Given the description of an element on the screen output the (x, y) to click on. 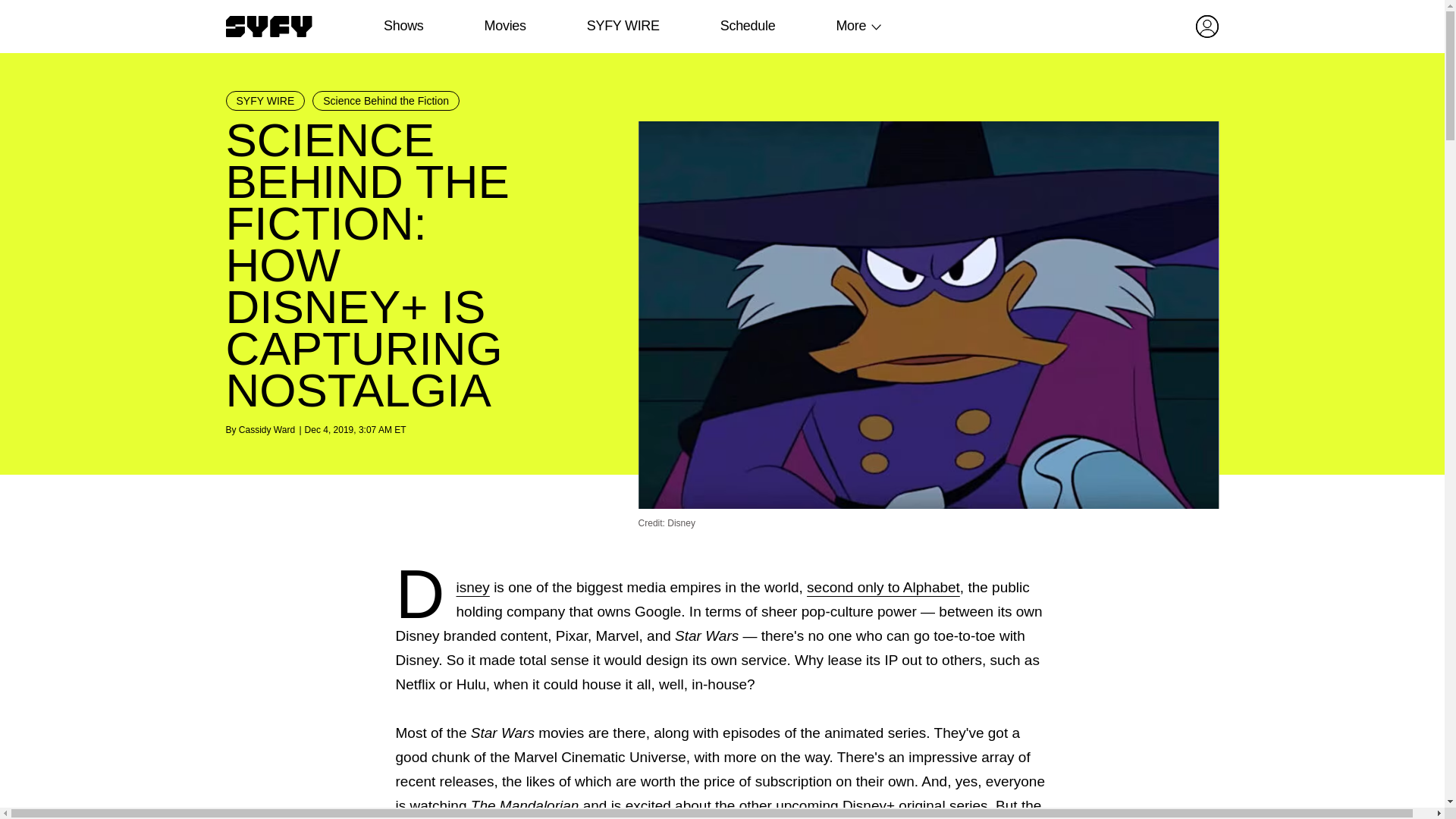
SYFY WIRE (622, 26)
Shows (403, 26)
SYFY WIRE (265, 100)
More (850, 26)
Cassidy Ward (266, 429)
second only to Alphabet (882, 587)
Movies (504, 26)
Schedule (746, 26)
Science Behind the Fiction (386, 100)
The Mandalorian (524, 805)
Disney (473, 587)
